Given the description of an element on the screen output the (x, y) to click on. 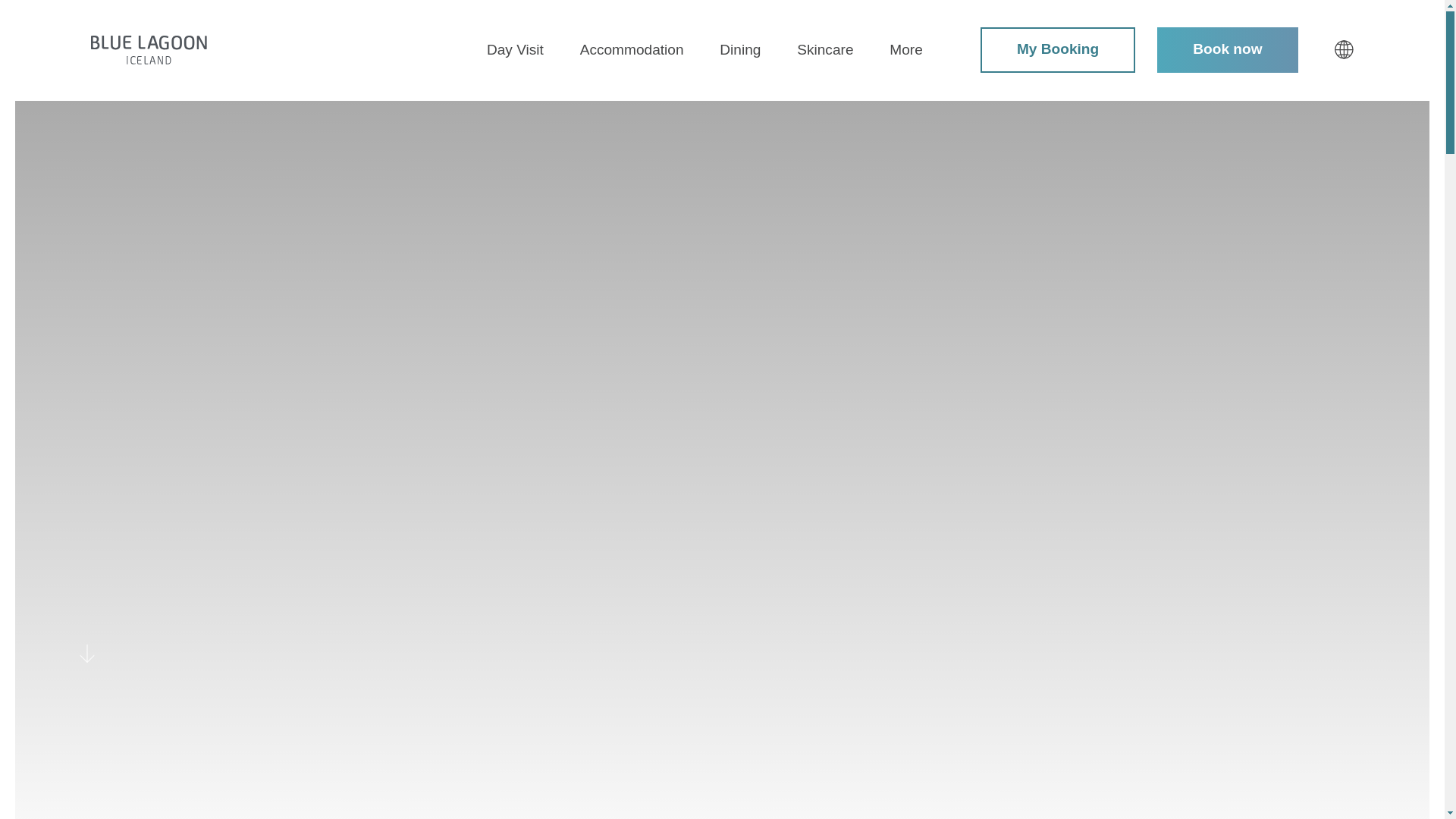
Dining (739, 50)
My Booking (1057, 49)
Skincare (824, 50)
Book now (1227, 49)
More (906, 50)
Language (1344, 49)
Day Visit (514, 50)
Accommodation (631, 50)
